Given the description of an element on the screen output the (x, y) to click on. 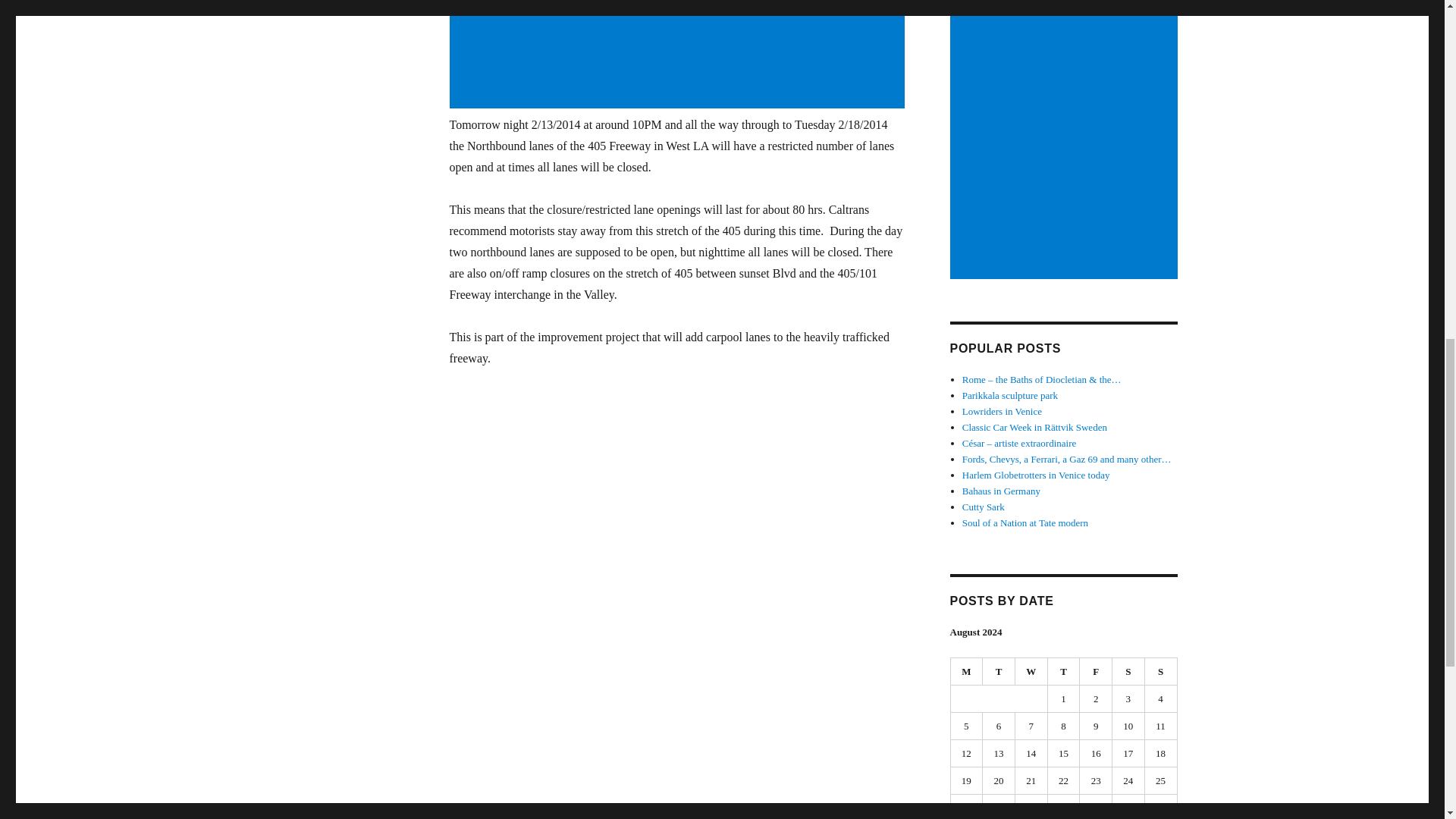
Saturday (1128, 671)
Bahaus in Germany (1001, 490)
Soul of a Nation at Tate modern (1024, 522)
Thursday (1064, 671)
Harlem Globetrotters in Venice today (1035, 474)
Tuesday (998, 671)
Lowriders in Venice (1002, 410)
Monday (967, 671)
Sunday (1160, 671)
Wednesday (1031, 671)
Parikkala sculpture park (1010, 395)
Advertisement (679, 54)
Cutty Sark (983, 506)
Friday (1096, 671)
